Given the description of an element on the screen output the (x, y) to click on. 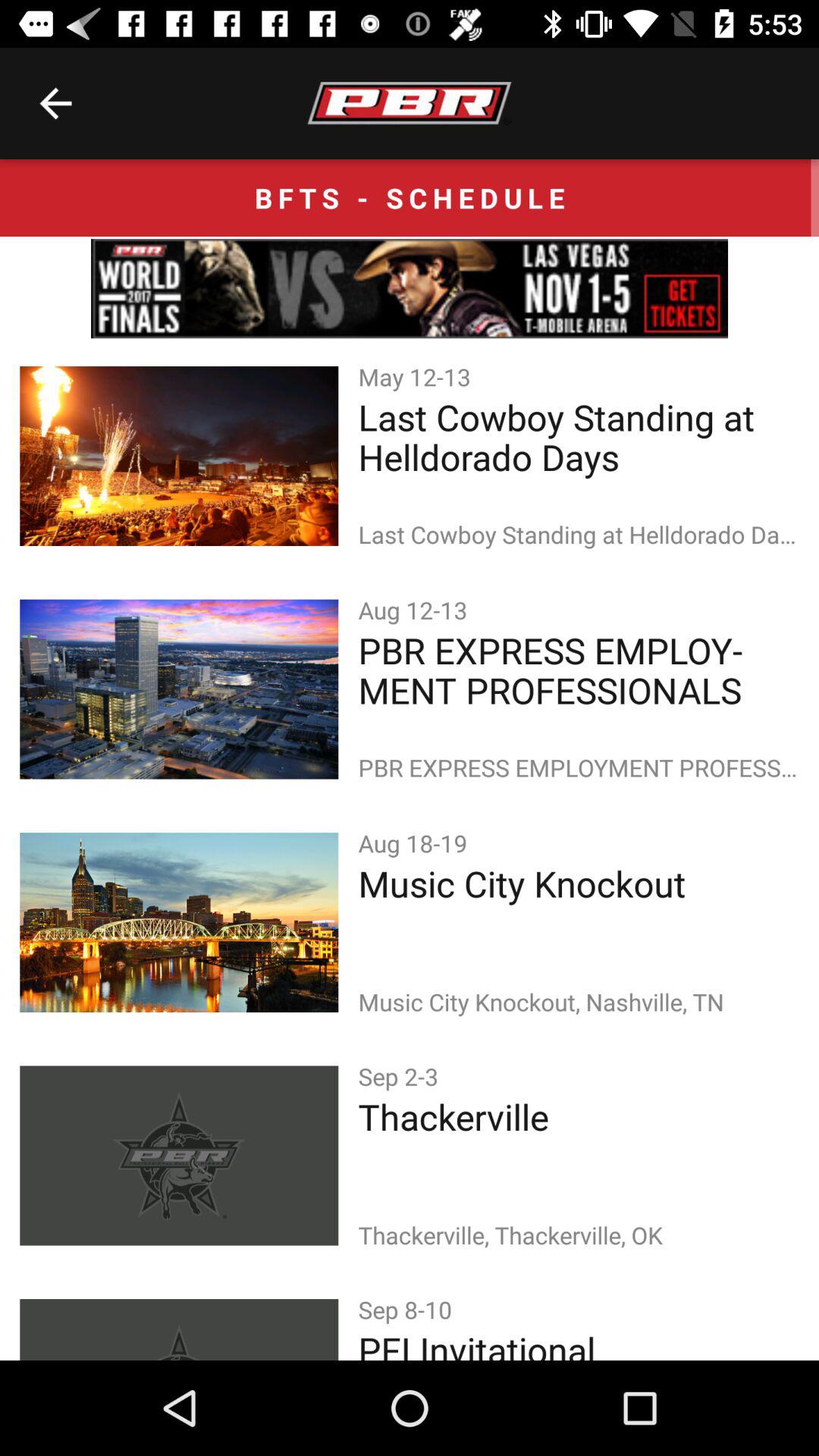
launch icon above the pfi invitational item (408, 1309)
